Given the description of an element on the screen output the (x, y) to click on. 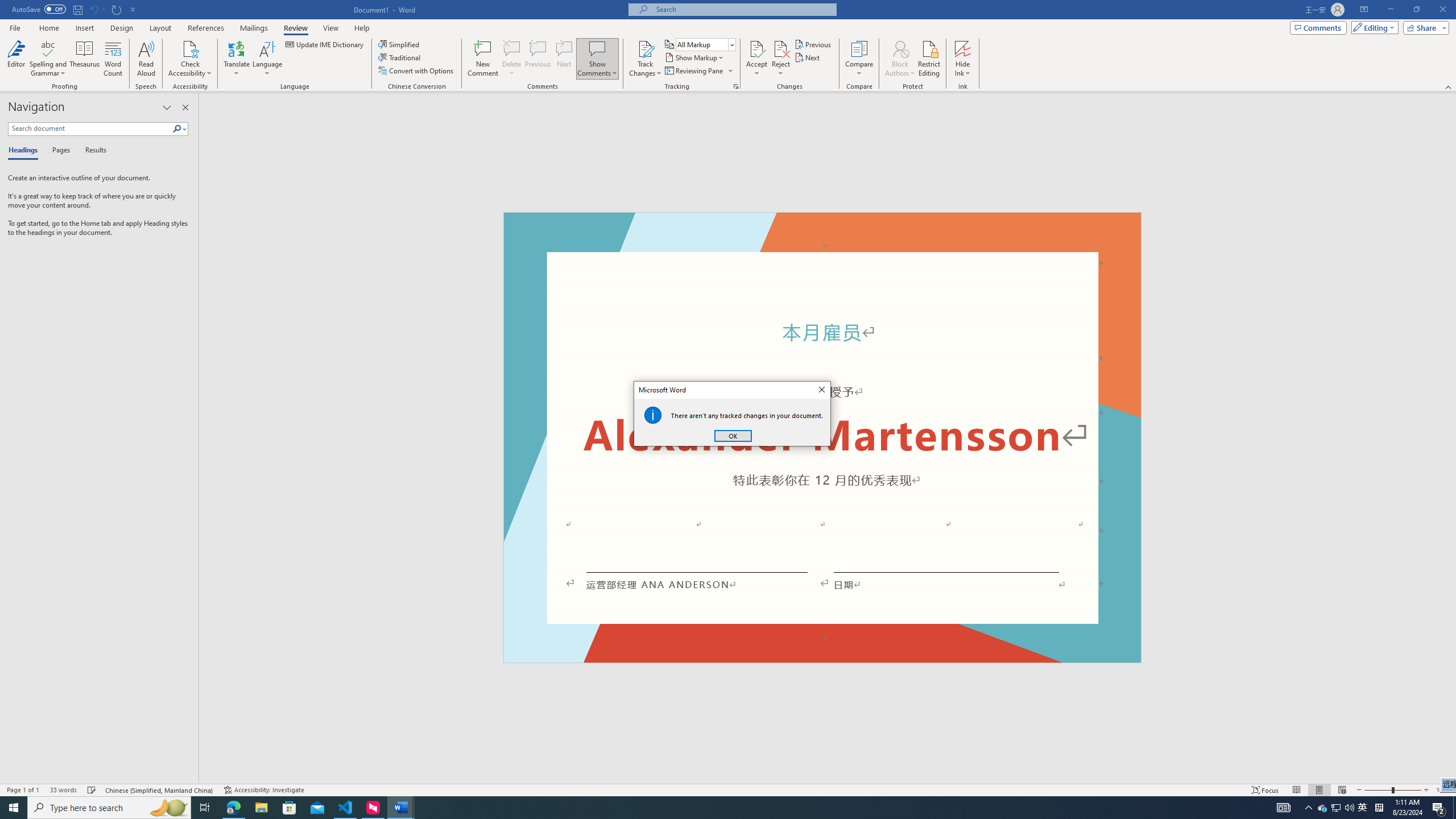
Next (808, 56)
Block Authors (900, 48)
Word Count (113, 58)
Check Accessibility (189, 48)
Web Layout (1342, 790)
Zoom Out (1377, 790)
Mailings (253, 28)
Editor (16, 58)
Footer -Section 1- (822, 657)
Delete (1322, 807)
Header -Section 1- (511, 58)
Accept and Move to Next (822, 225)
